Given the description of an element on the screen output the (x, y) to click on. 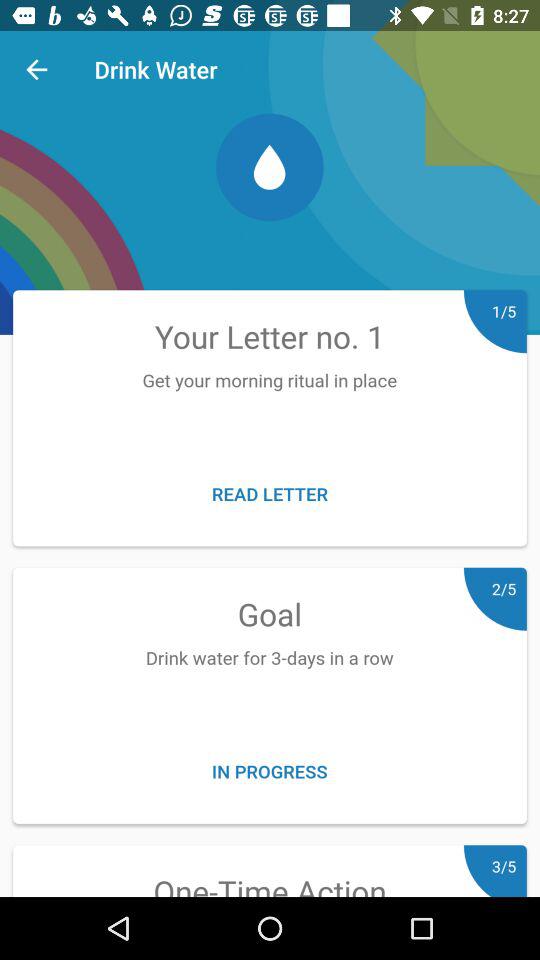
open item below the drink water for (269, 770)
